Given the description of an element on the screen output the (x, y) to click on. 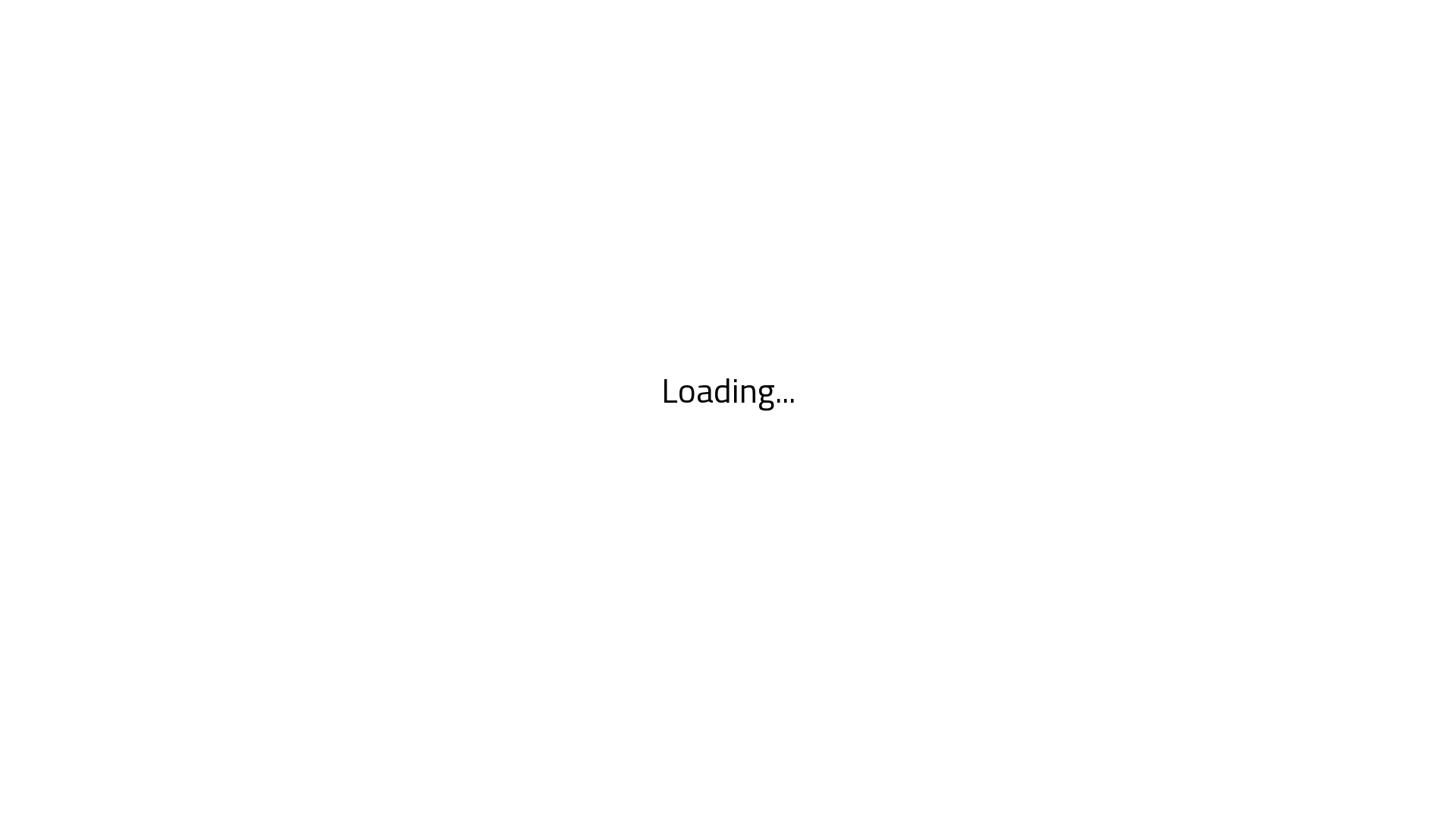
Next Element type: text (85, 57)
